Given the description of an element on the screen output the (x, y) to click on. 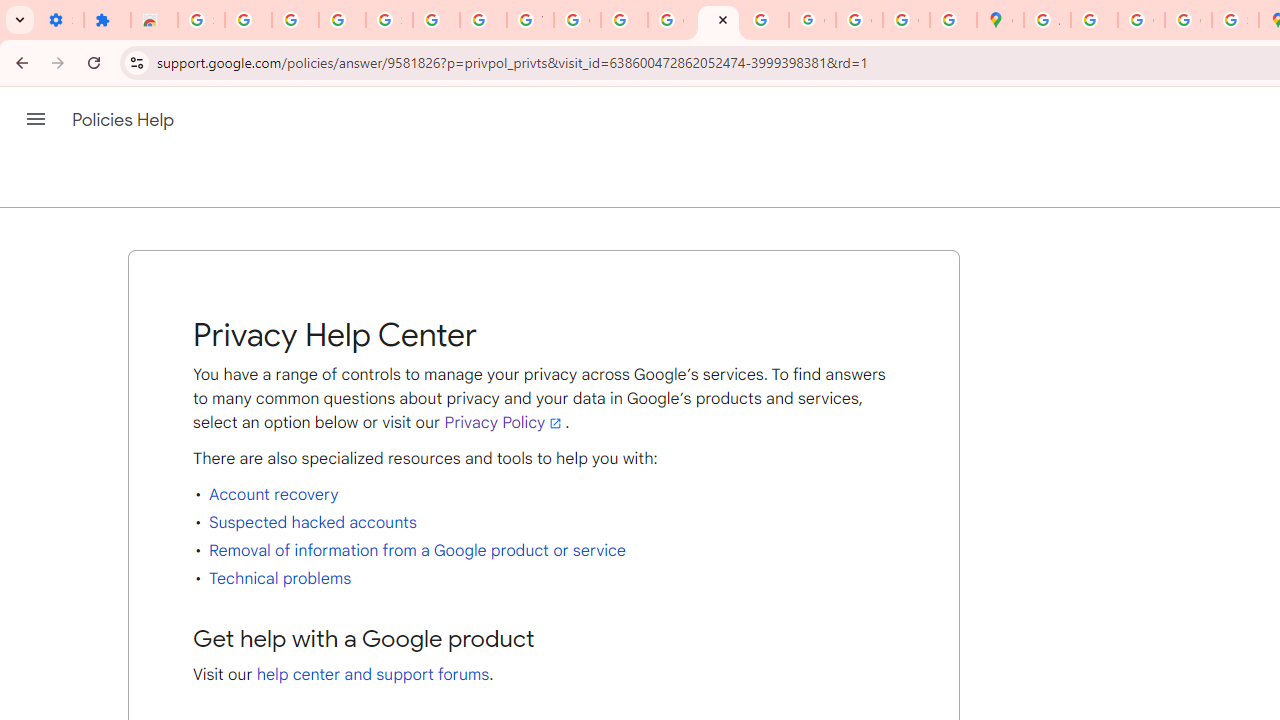
YouTube (530, 20)
Sign in - Google Accounts (389, 20)
help center and support forums (373, 674)
Sign in - Google Accounts (201, 20)
Technical problems (280, 578)
Google Maps (999, 20)
Delete photos & videos - Computer - Google Photos Help (248, 20)
